Given the description of an element on the screen output the (x, y) to click on. 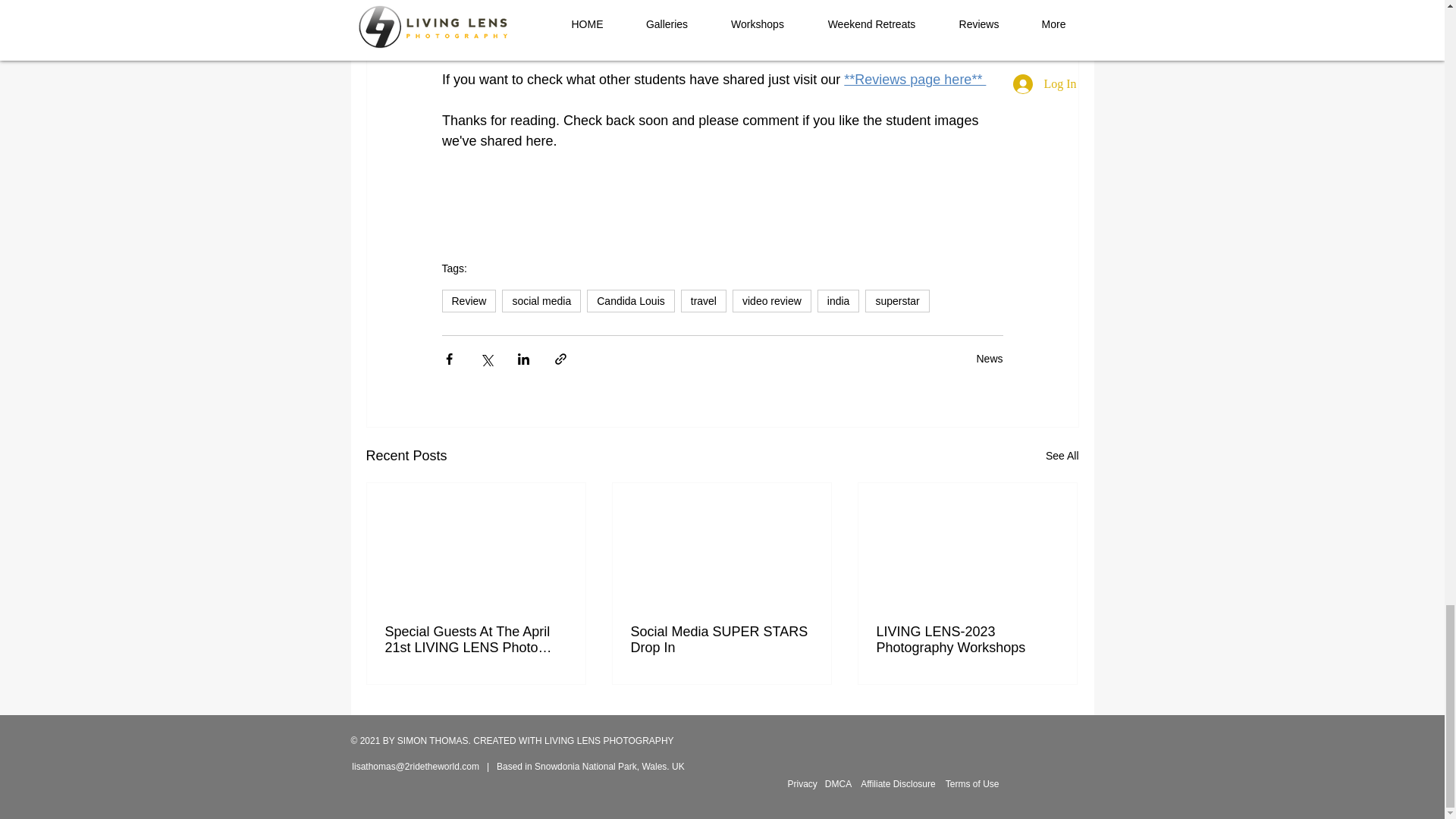
social media (541, 300)
travel (703, 300)
video review (771, 300)
india (838, 300)
Review (468, 300)
Candida Louis (630, 300)
